Given the description of an element on the screen output the (x, y) to click on. 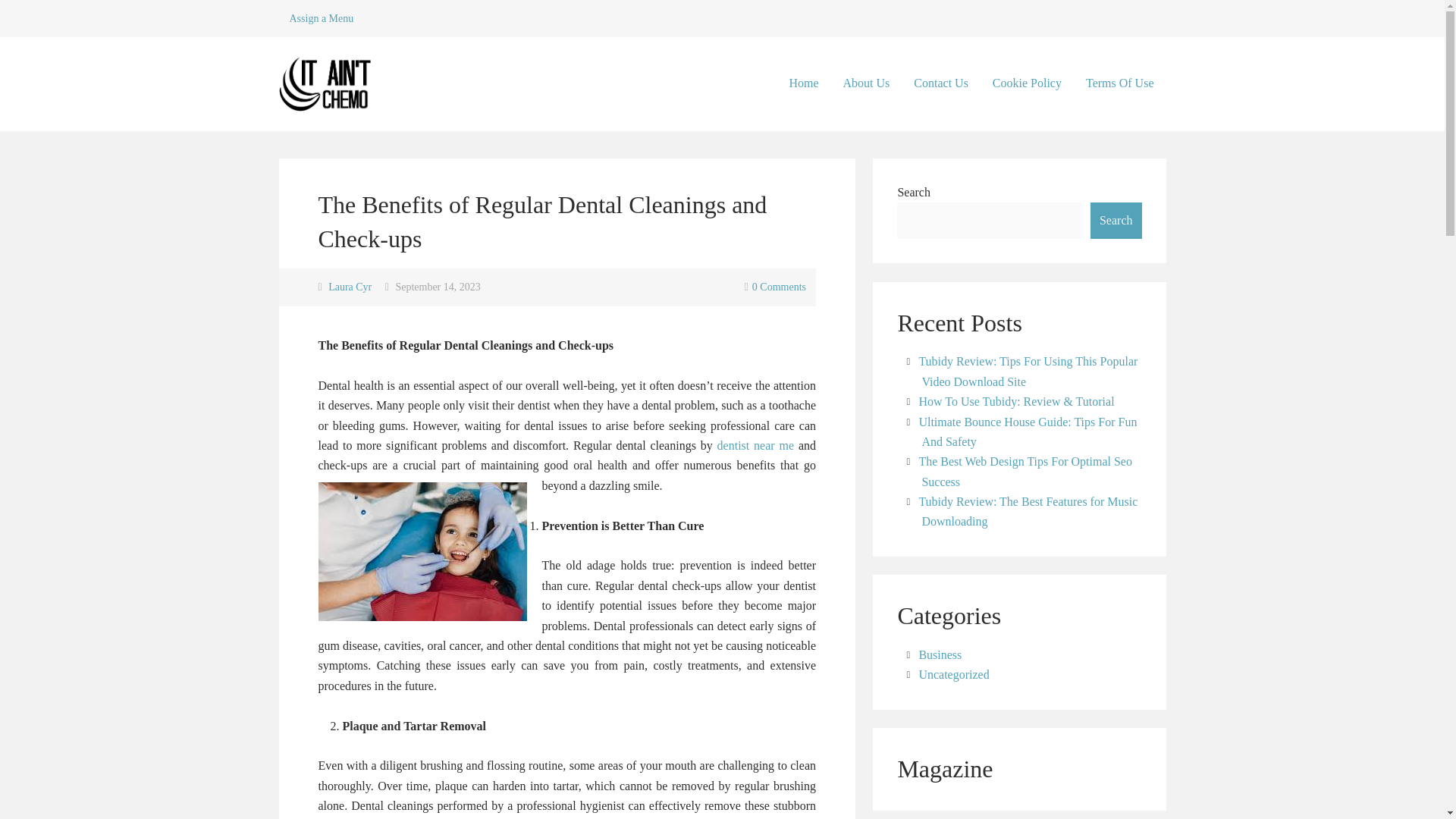
dentist near me (757, 445)
Contact Us (940, 82)
About Us (866, 82)
Search (1115, 220)
The Best Web Design Tips For Optimal Seo Success (1025, 471)
Uncategorized (953, 674)
Tubidy Review: The Best Features for Music Downloading (1027, 511)
Cookie Policy (1026, 82)
Terms Of Use (1120, 82)
